Given the description of an element on the screen output the (x, y) to click on. 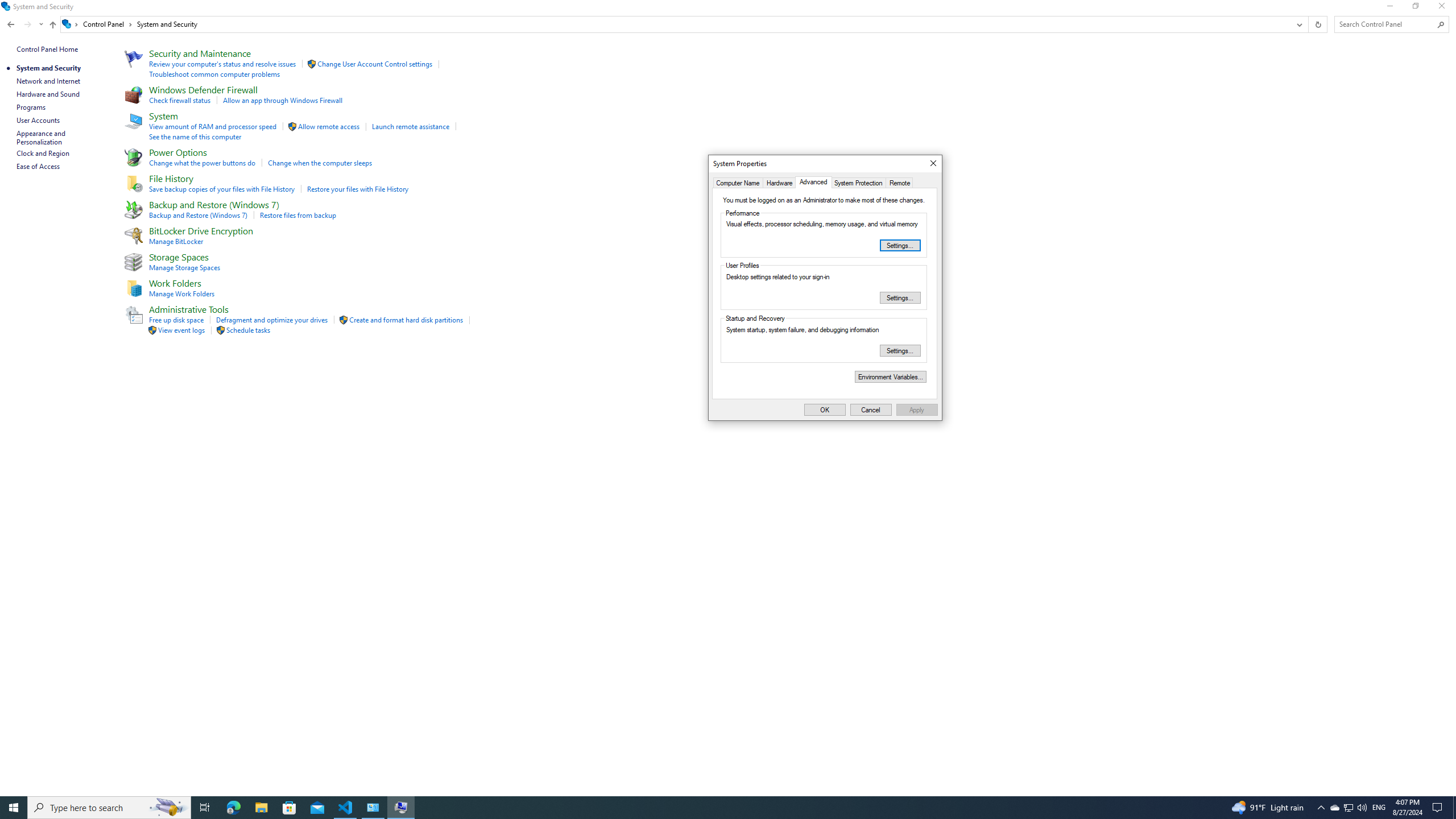
Notification Chevron (1320, 807)
System Protection (858, 182)
Remote (900, 182)
